Given the description of an element on the screen output the (x, y) to click on. 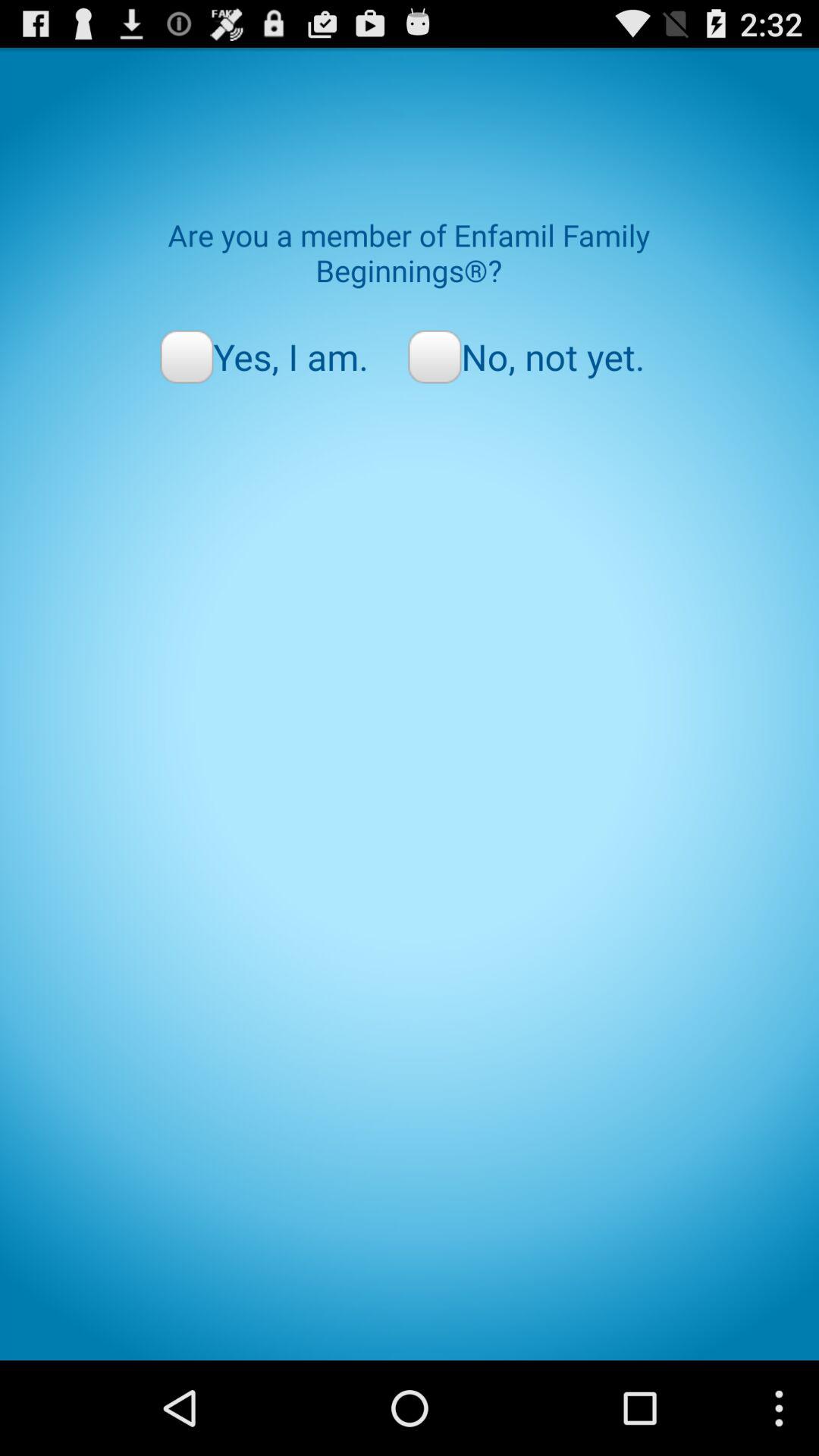
flip until the no, not yet. (526, 356)
